Given the description of an element on the screen output the (x, y) to click on. 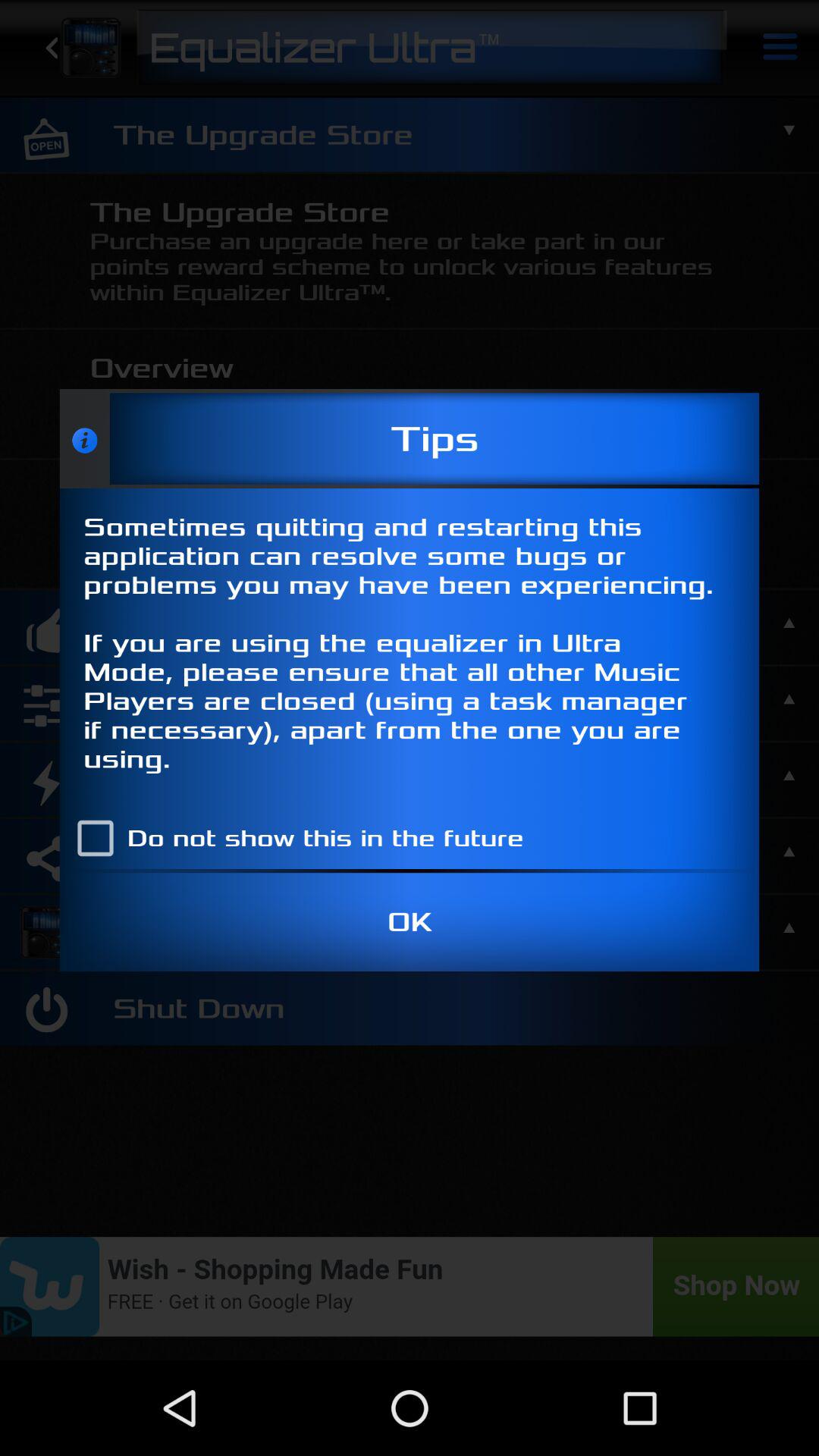
scroll until the do not show (293, 838)
